Given the description of an element on the screen output the (x, y) to click on. 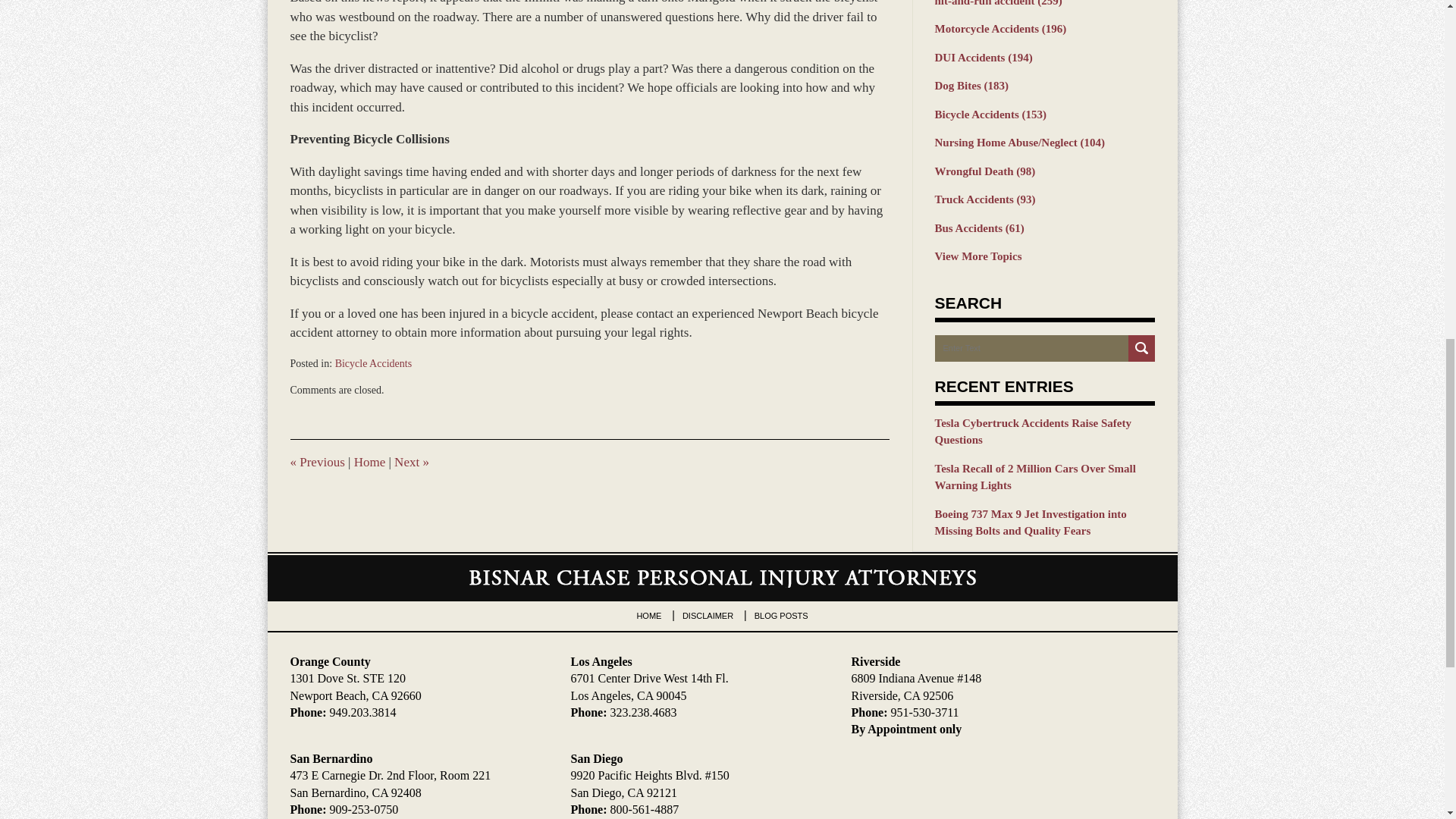
View all posts in Bicycle Accidents (373, 363)
Lawsuit Filed in San Diego Dog Bite Case (316, 462)
Bicycle Accidents (373, 363)
View More Topics (1044, 256)
Fatal La Habra Hit-and-Run Crash (411, 462)
Tesla Cybertruck Accidents Raise Safety Questions (1044, 431)
Tesla Recall of 2 Million Cars Over Small Warning Lights (1044, 477)
SEARCH (1141, 347)
Home (369, 462)
